Given the description of an element on the screen output the (x, y) to click on. 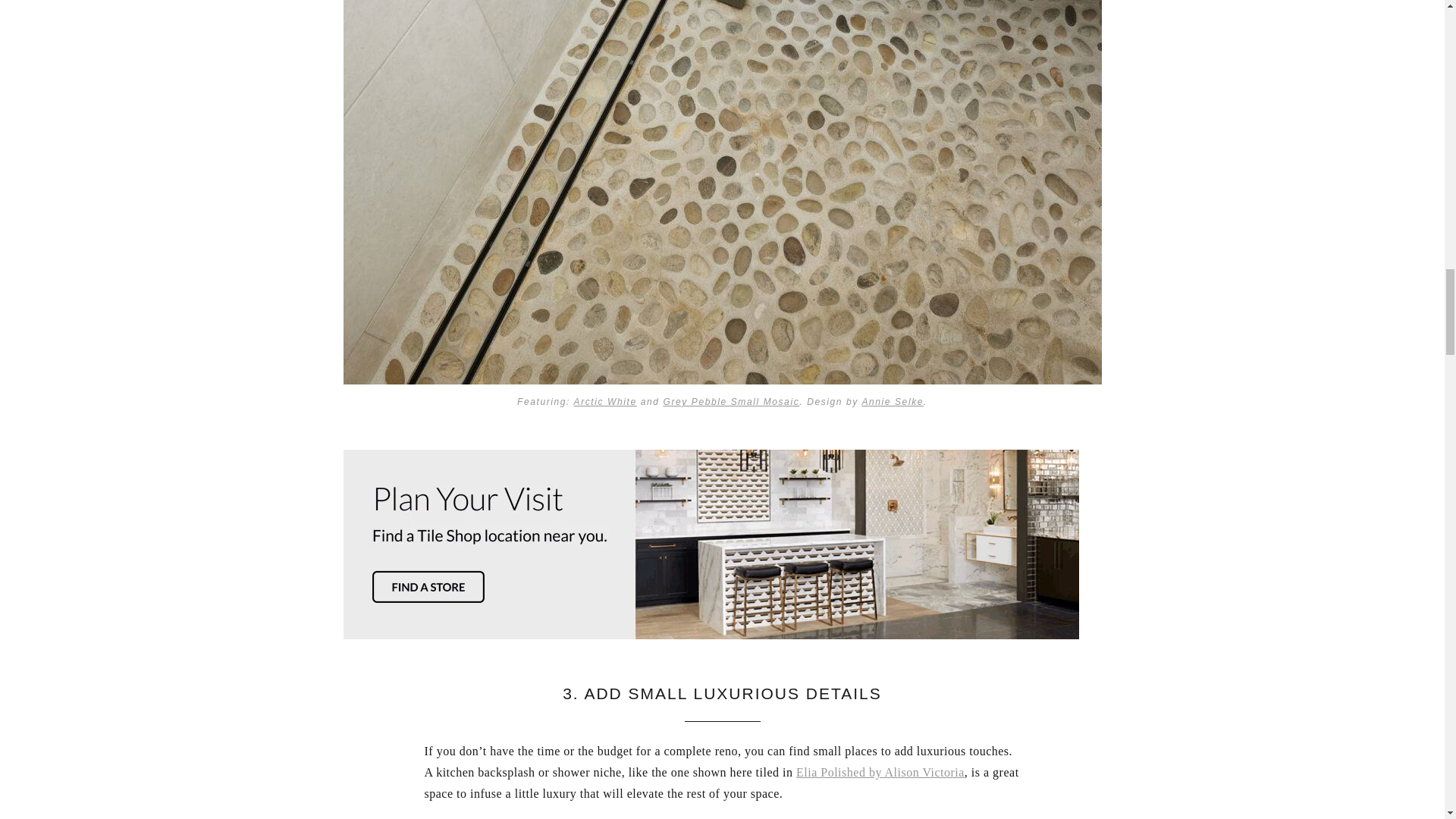
Elia Polished by Alison Victoria (879, 771)
Arctic White (605, 401)
Annie Selke (892, 401)
Grey Pebble Small Mosaic (730, 401)
